Given the description of an element on the screen output the (x, y) to click on. 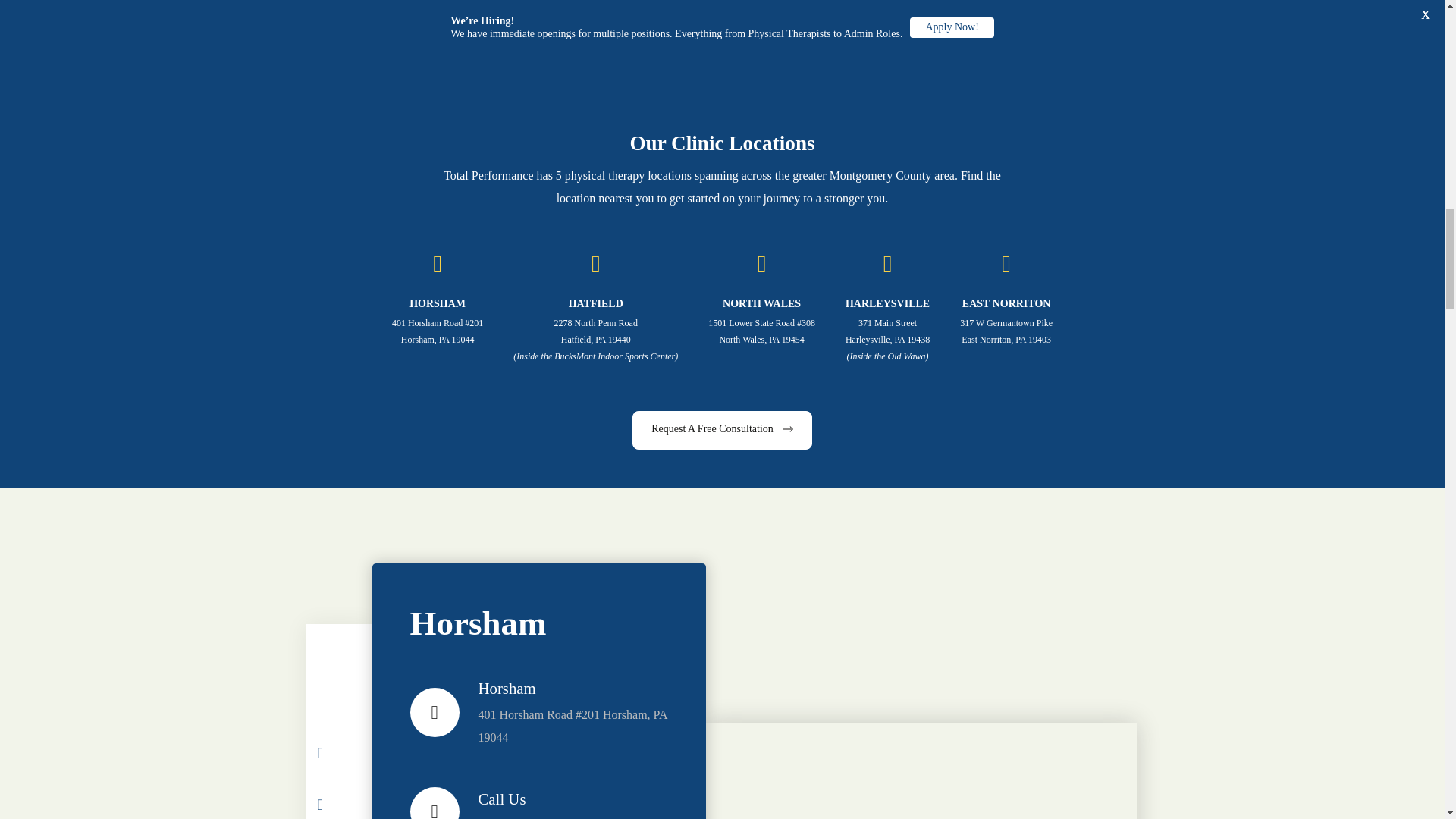
Twitter (338, 807)
EAST NORRITON (1006, 303)
Request A Free Consultation (721, 430)
1547 DeKalb St, Norristown, PA 19401, United States (919, 770)
HATFIELD (596, 303)
HORSHAM (437, 303)
HARLEYSVILLE (887, 303)
Facebook (338, 770)
NORTH WALES (761, 303)
